Given the description of an element on the screen output the (x, y) to click on. 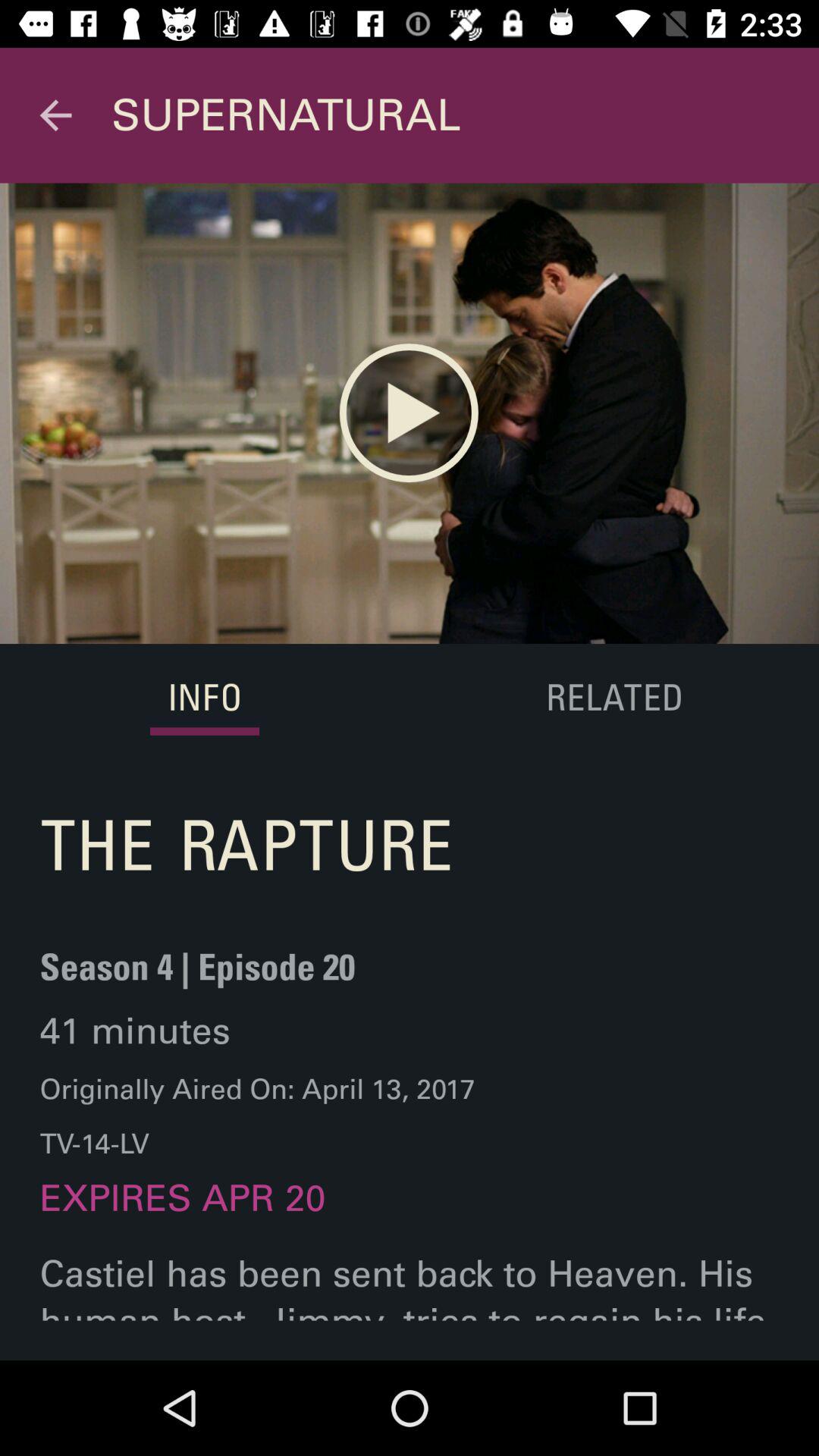
select icon next to info (613, 699)
